Given the description of an element on the screen output the (x, y) to click on. 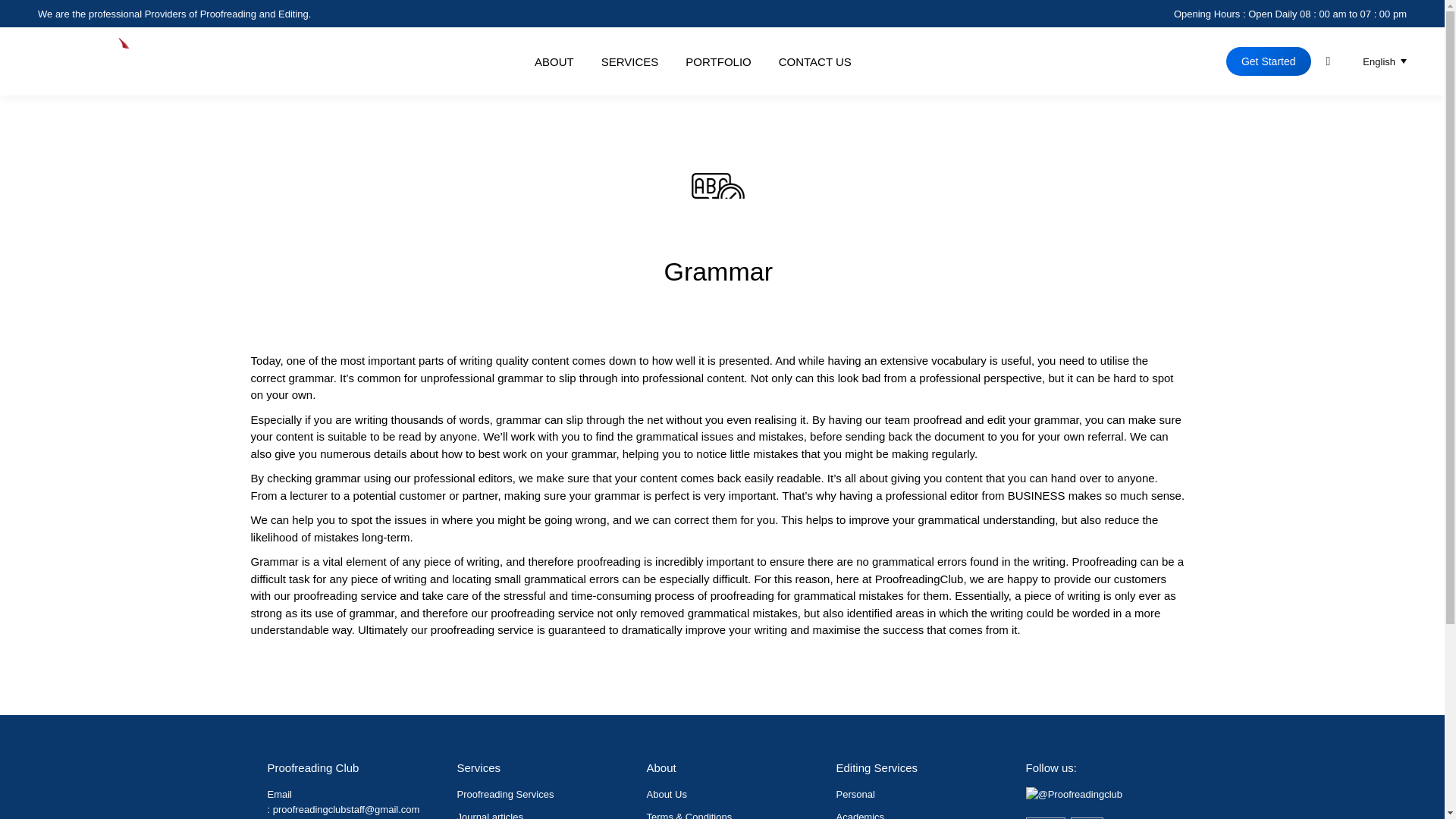
Proofreading Services (505, 794)
proofread portfolio (718, 61)
Get Started (1268, 61)
proofread services (630, 61)
CONTACT US (815, 61)
About Us (665, 794)
proofread (553, 61)
Journal articles (489, 815)
Personal (855, 794)
Academics (859, 815)
SERVICES (630, 61)
English (1375, 61)
Go! (24, 16)
PORTFOLIO (718, 61)
proofread contact us (815, 61)
